Given the description of an element on the screen output the (x, y) to click on. 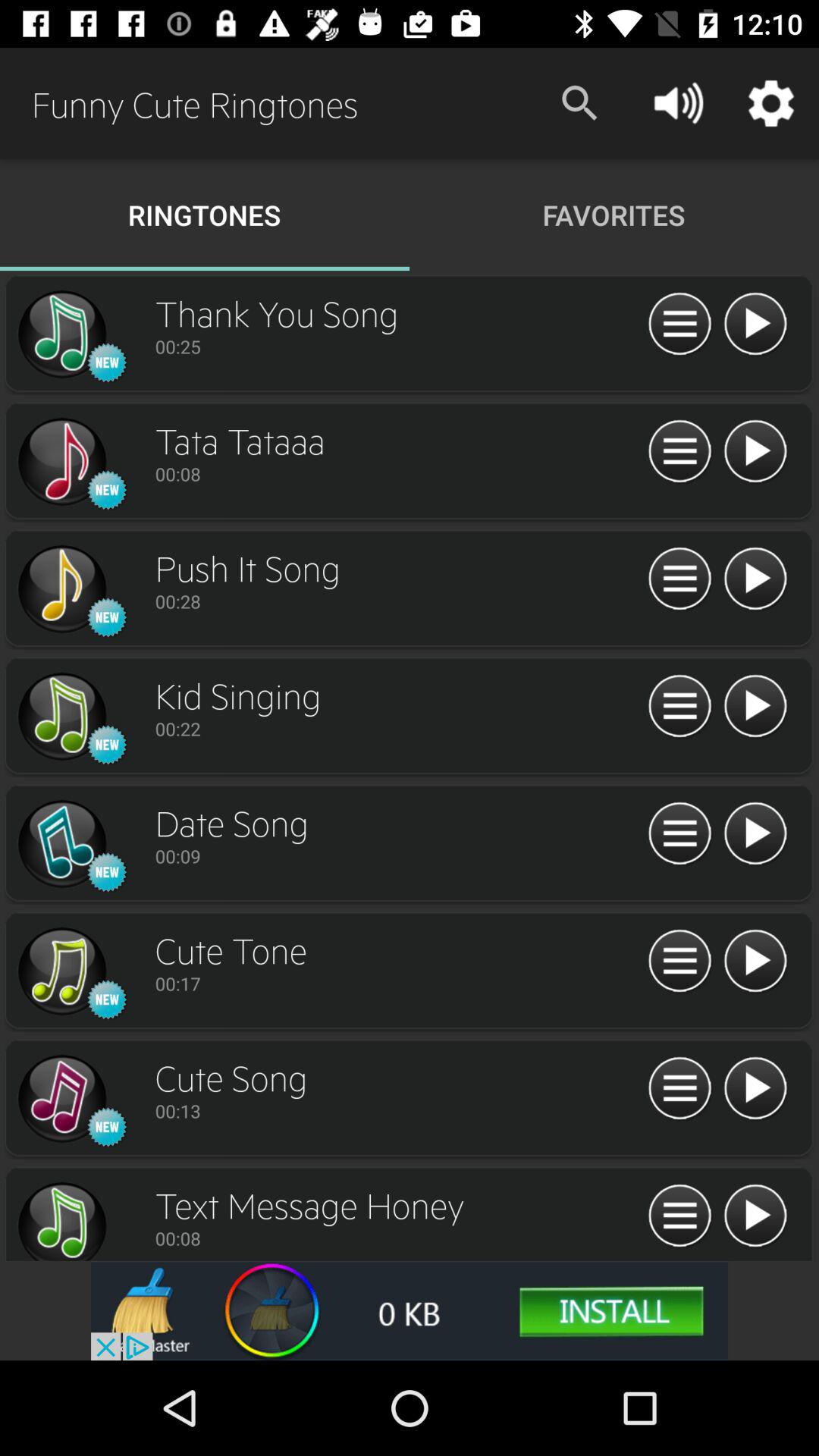
play the tone (755, 961)
